Given the description of an element on the screen output the (x, y) to click on. 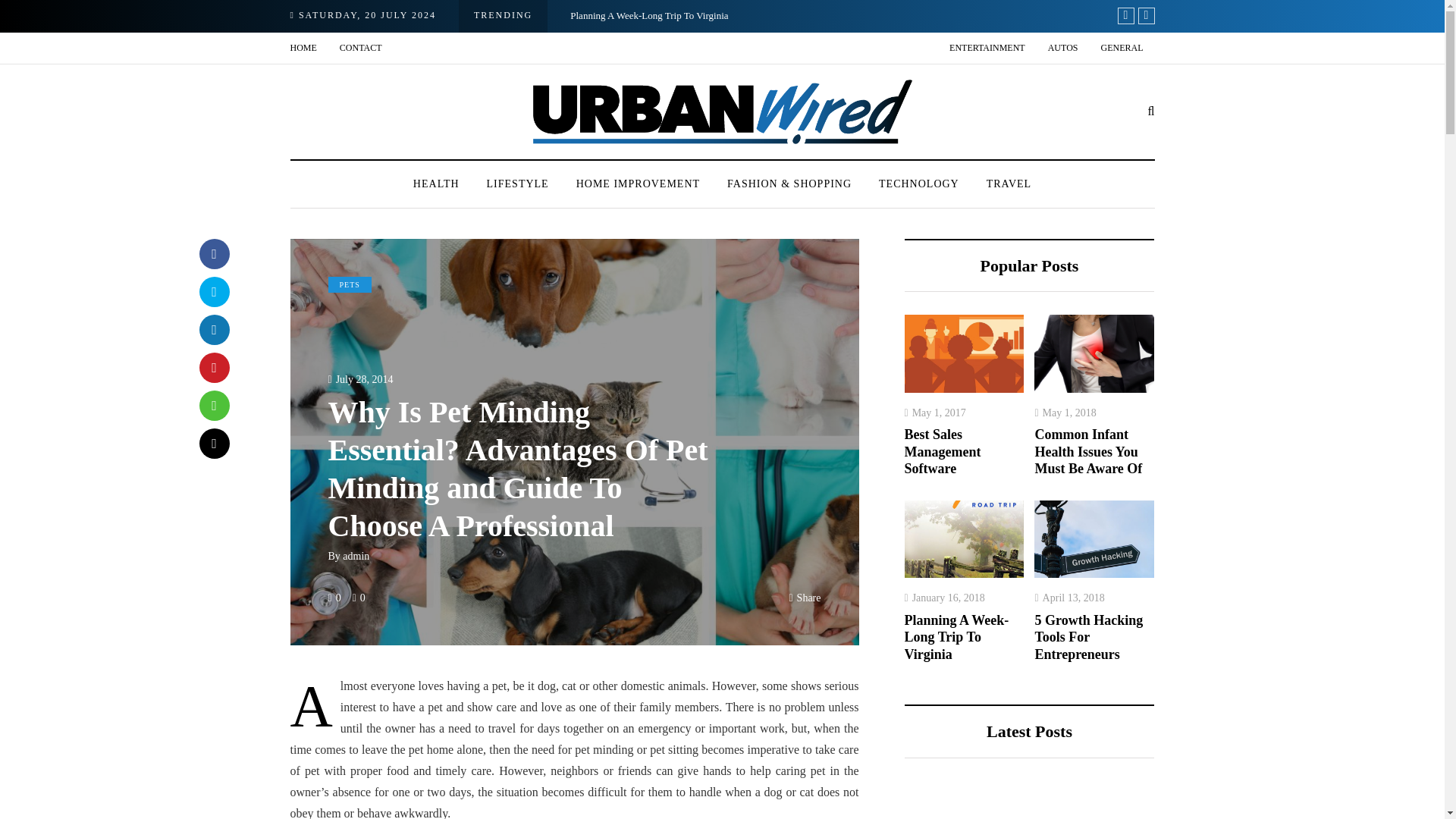
Share by Email (213, 443)
Share with Facebook (213, 254)
GENERAL (1121, 47)
HOME IMPROVEMENT (637, 184)
Pin this (213, 367)
Best Sales Management Software (1190, 15)
PETS (349, 284)
TRAVEL (1008, 184)
Share to WhatsApp (213, 405)
admin (355, 555)
CONTACT (361, 47)
AUTOS (1062, 47)
Tweet this (213, 291)
ENTERTAINMENT (986, 47)
TECHNOLOGY (918, 184)
